Given the description of an element on the screen output the (x, y) to click on. 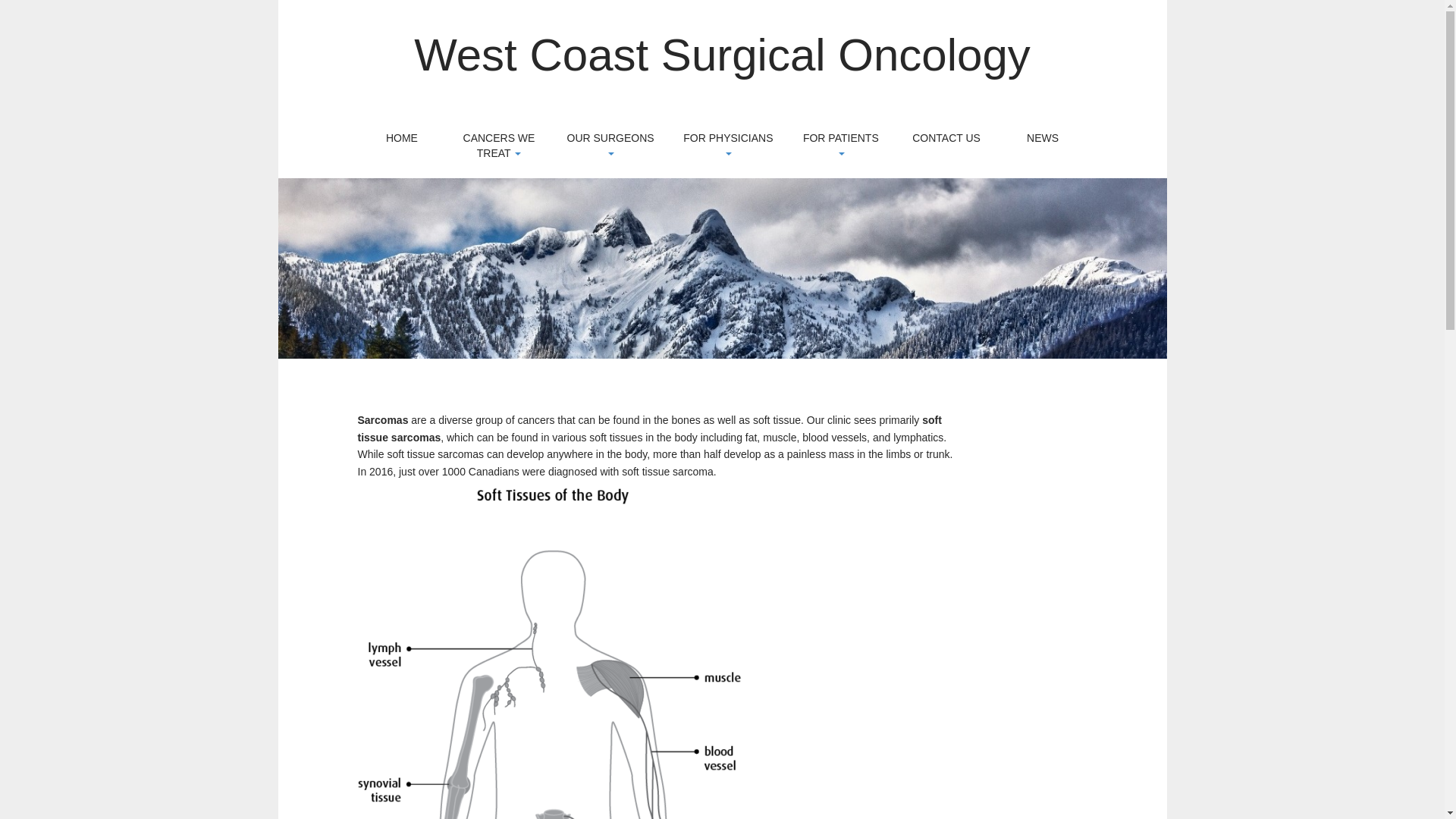
CANCERS WE TREAT (498, 146)
FOR PHYSICIANS (728, 146)
West Coast Surgical Oncology (721, 54)
HOME (401, 138)
FOR PATIENTS (840, 146)
CONTACT US (945, 138)
OUR SURGEONS (610, 146)
NEWS (1042, 138)
West Coast Surgical Oncology (721, 54)
